Given the description of an element on the screen output the (x, y) to click on. 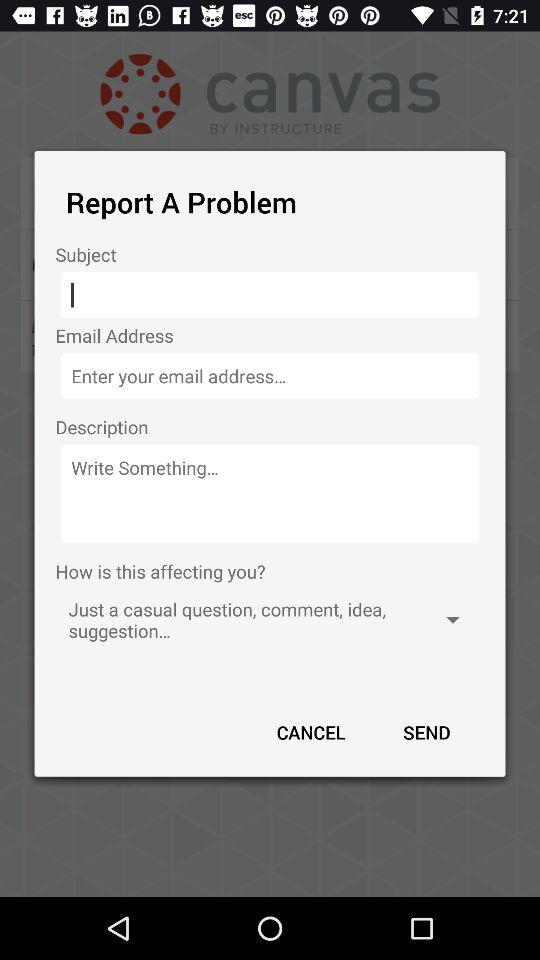
jump to send (426, 732)
